Given the description of an element on the screen output the (x, y) to click on. 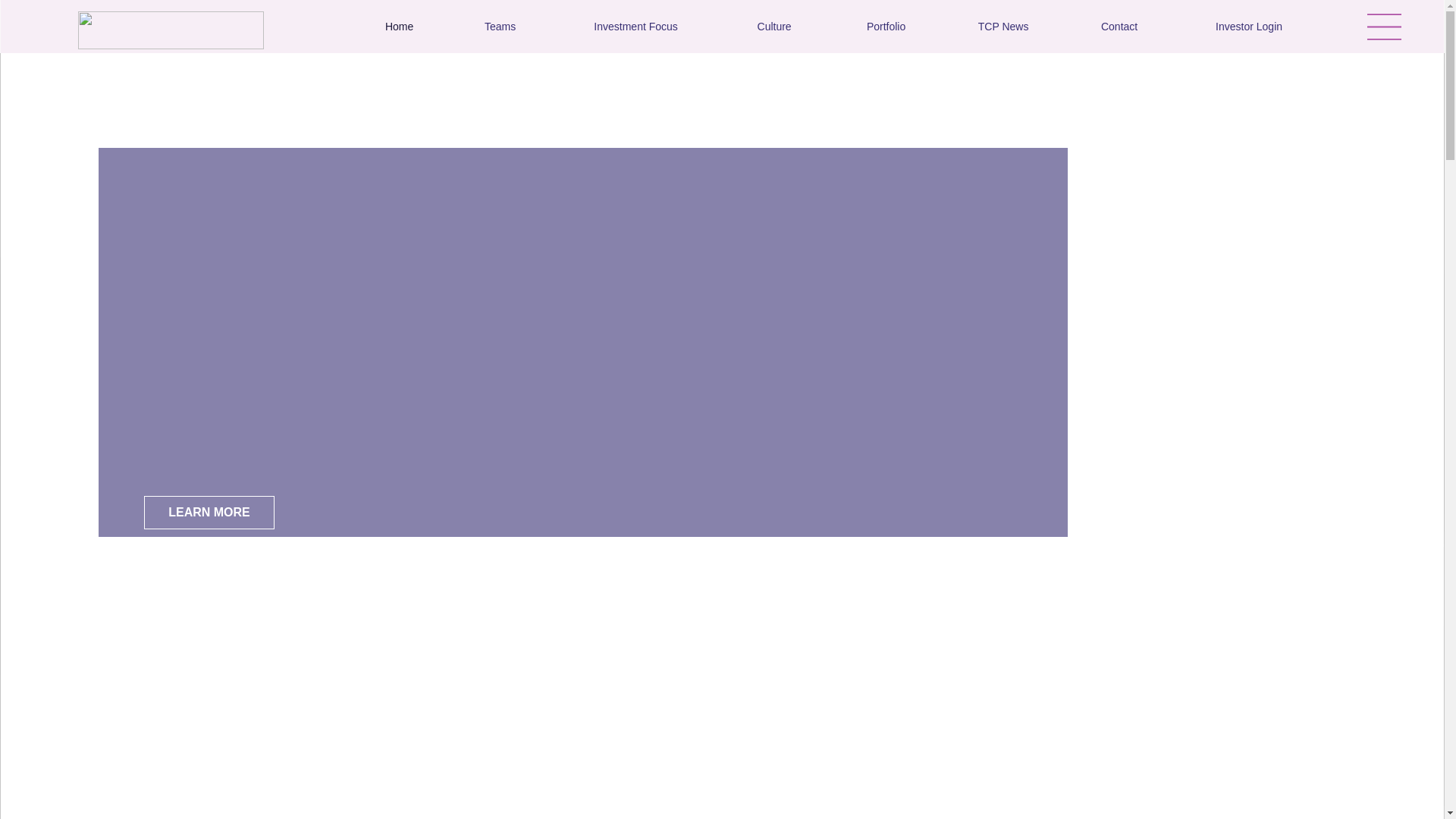
Home (399, 26)
Investment Focus (635, 26)
Culture (774, 26)
LEARN MORE (209, 512)
Investor Login (1249, 26)
Portfolio (885, 26)
TCP News (1002, 26)
Contact (1119, 26)
